Given the description of an element on the screen output the (x, y) to click on. 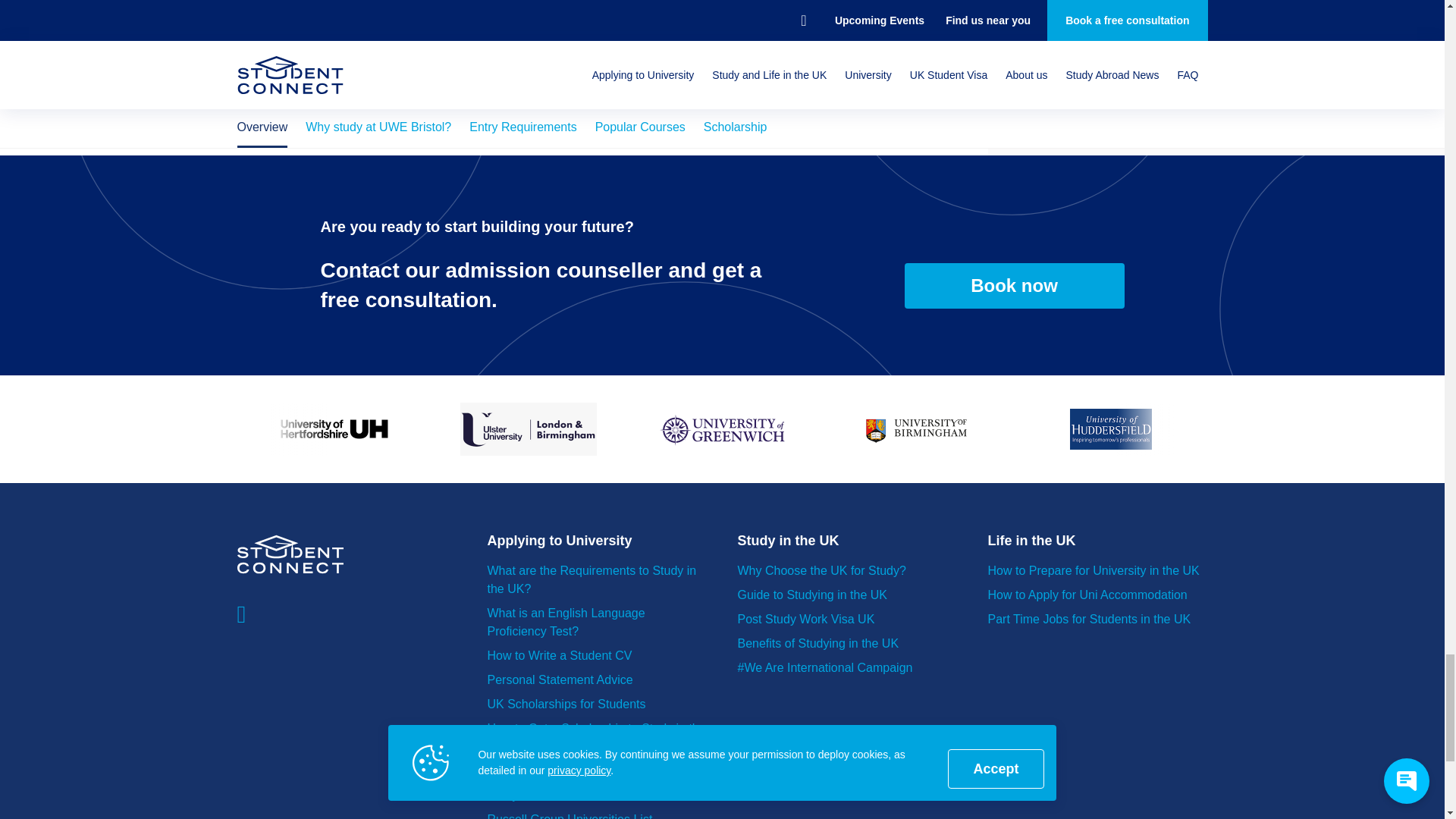
11 (527, 428)
10 (332, 428)
